Given the description of an element on the screen output the (x, y) to click on. 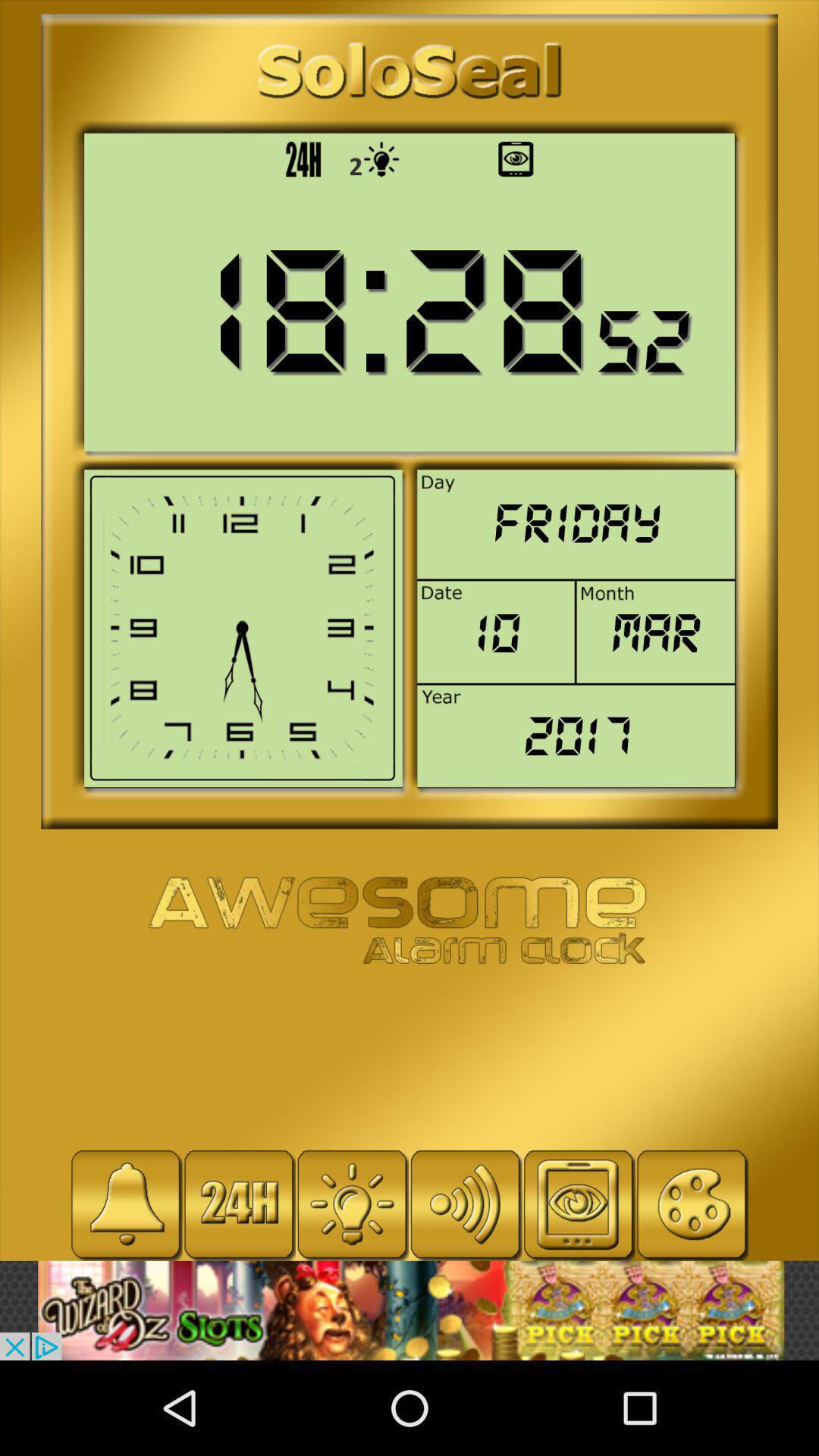
set alarm (125, 1203)
